Given the description of an element on the screen output the (x, y) to click on. 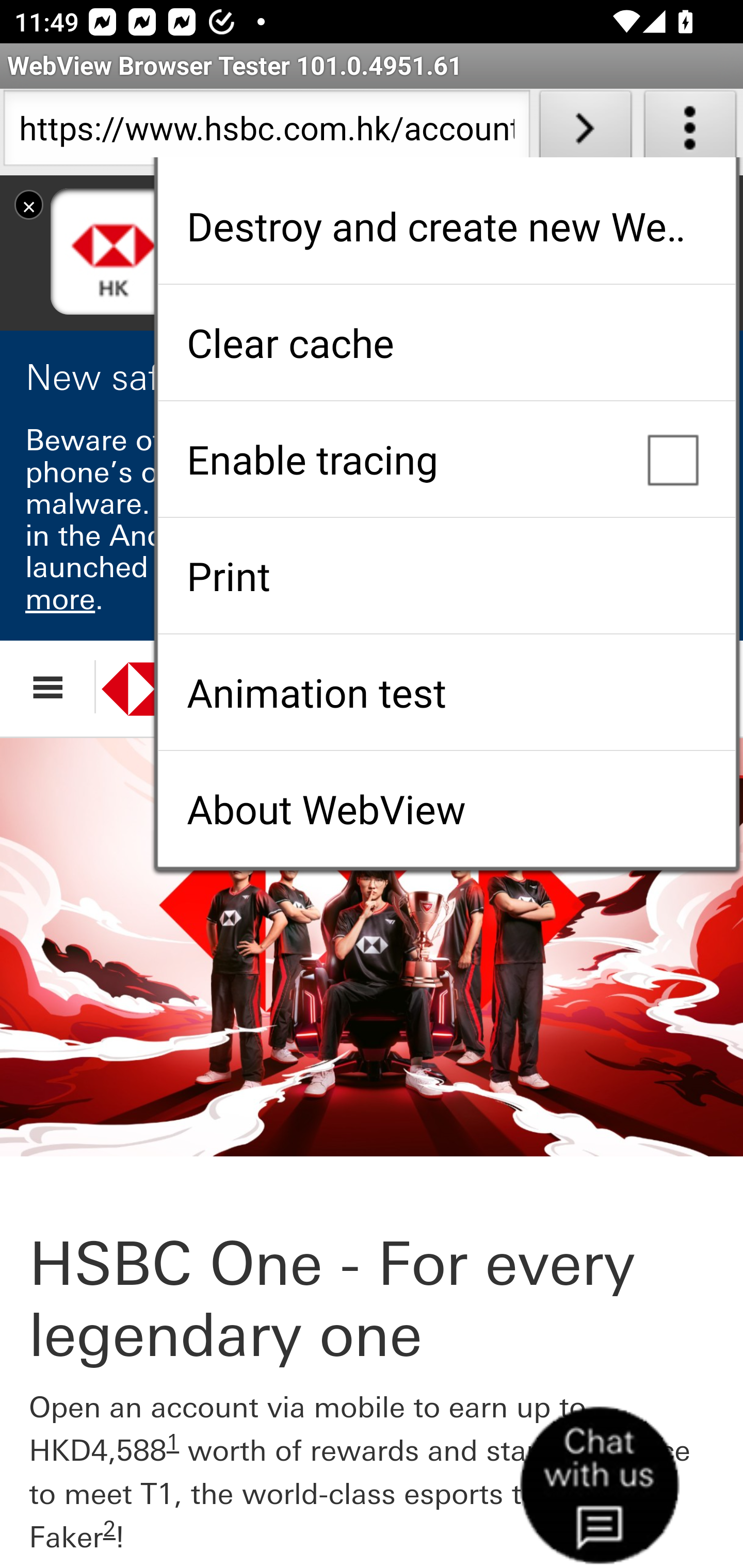
Destroy and create new WebView (446, 225)
Clear cache (446, 342)
Enable tracing (446, 459)
Print (446, 575)
Animation test (446, 692)
About WebView (446, 809)
